Given the description of an element on the screen output the (x, y) to click on. 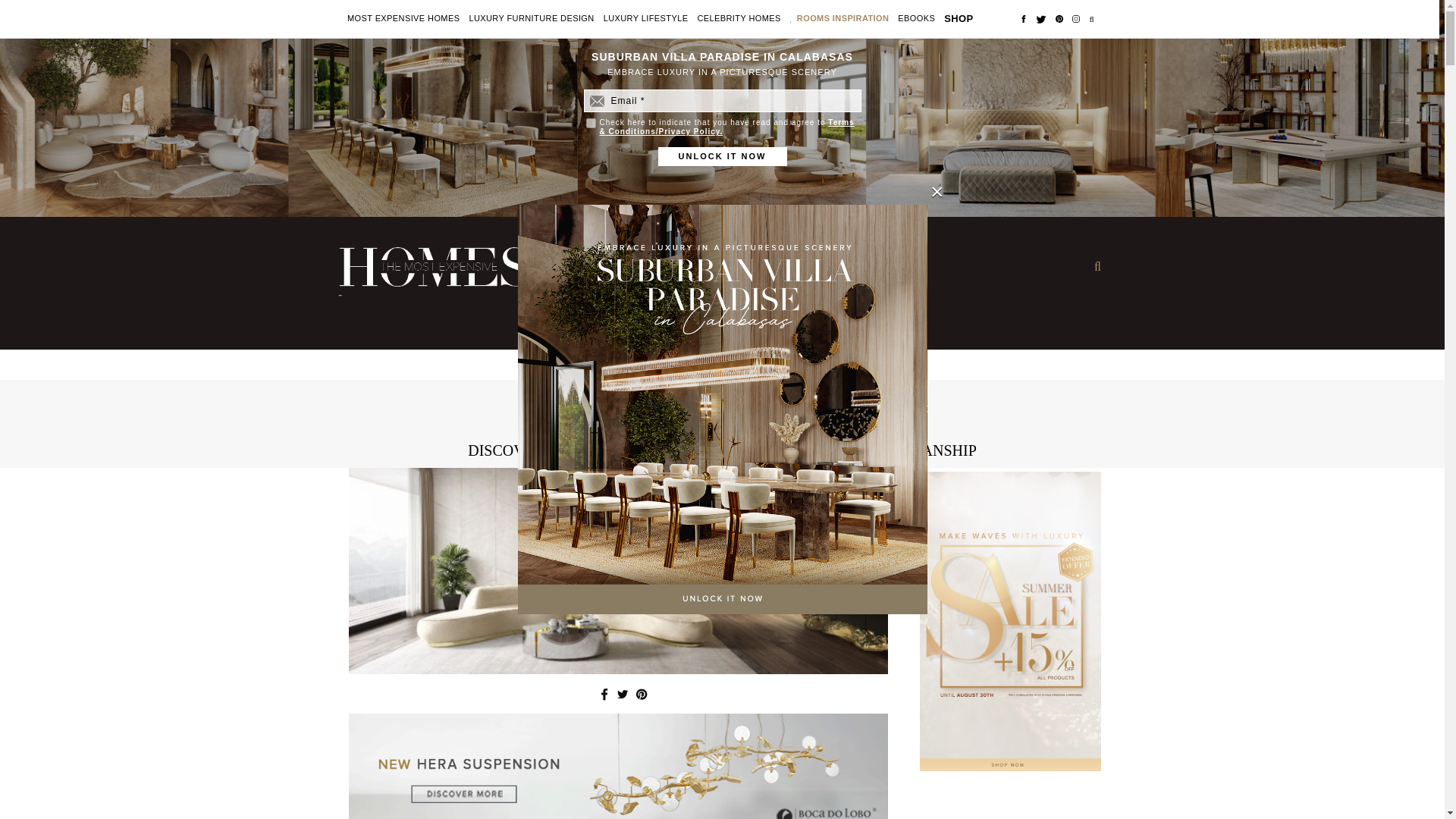
EBOOKS (916, 19)
MOST EXPENSIVE HOMES (403, 19)
LUXURY LIFESTYLE (646, 19)
UNLOCK IT NOW (722, 156)
LUXURY FURNITURE DESIGN (531, 19)
ROOMS INSPIRATION (842, 19)
CELEBRITY HOMES (738, 19)
UNLOCK IT NOW (722, 156)
SHOP (957, 18)
on (590, 122)
